Given the description of an element on the screen output the (x, y) to click on. 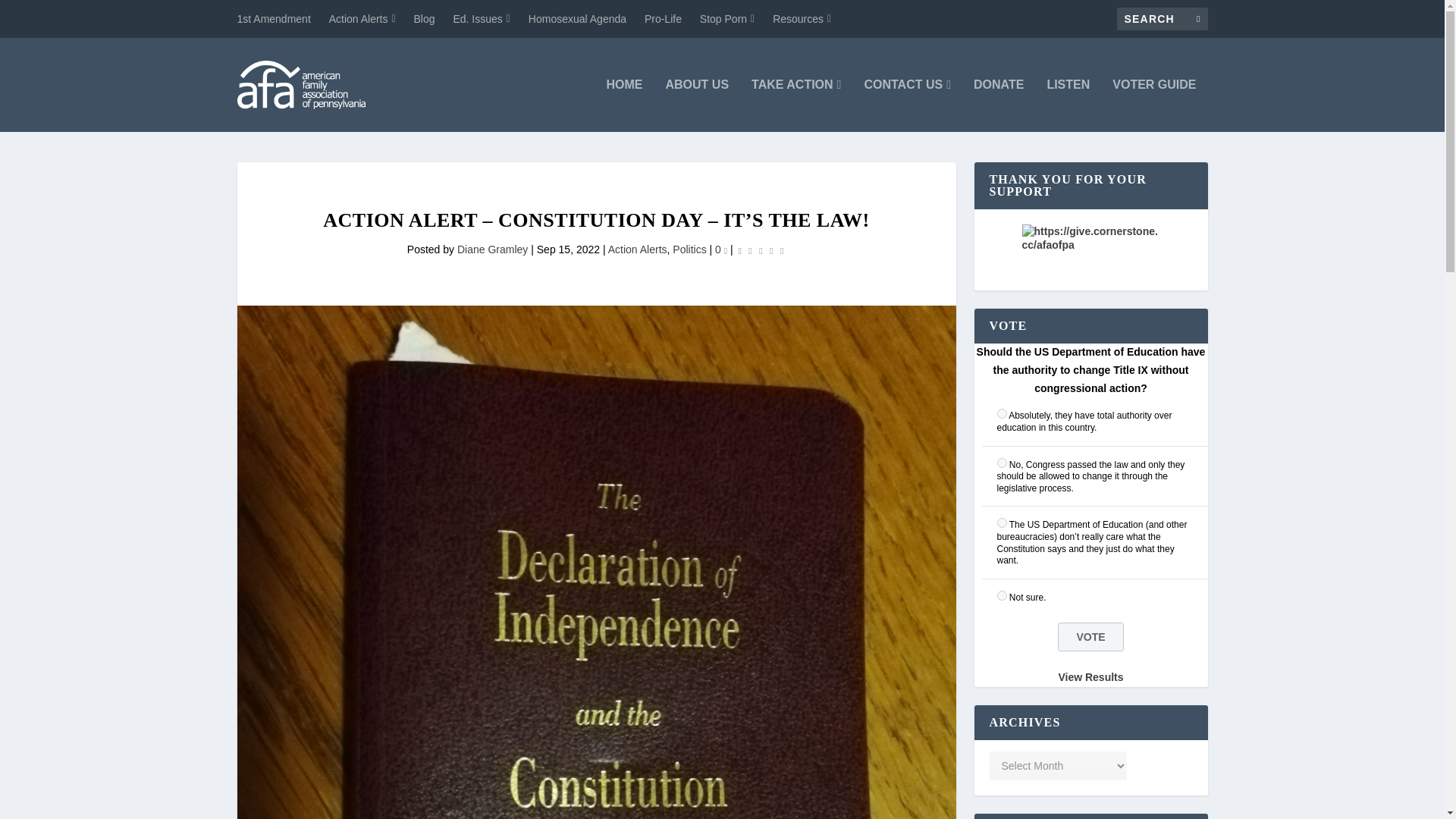
Resources (802, 18)
1st Amendment (272, 18)
VOTER GUIDE (1153, 104)
Search for: (1161, 18)
1631 (1000, 413)
TAKE ACTION (796, 104)
Homosexual Agenda (577, 18)
Action Alerts (637, 249)
1633 (1000, 522)
1632 (1000, 462)
